Given the description of an element on the screen output the (x, y) to click on. 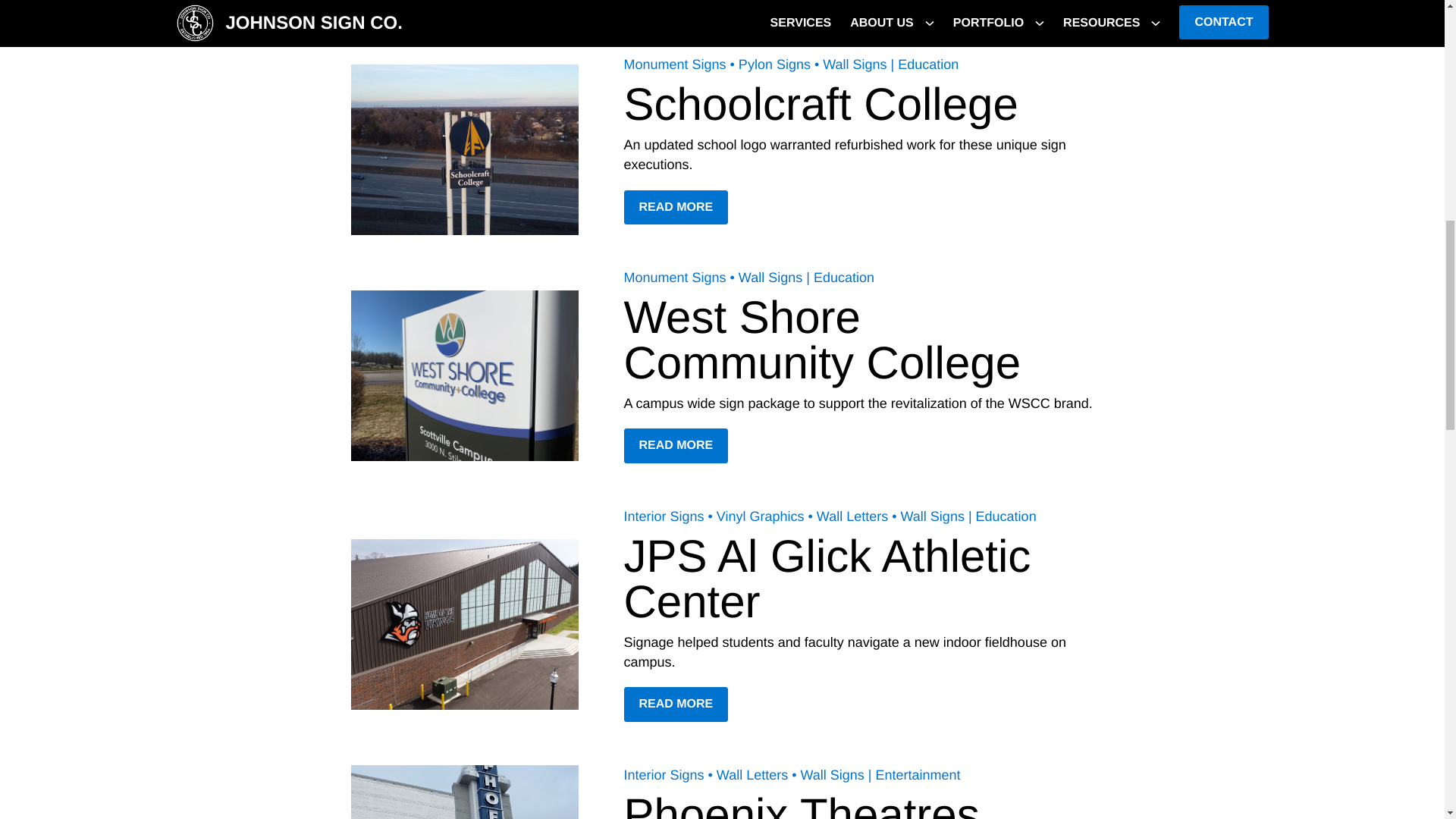
READ MORE (675, 445)
READ MORE (675, 6)
READ MORE (675, 207)
READ MORE (675, 704)
